Given the description of an element on the screen output the (x, y) to click on. 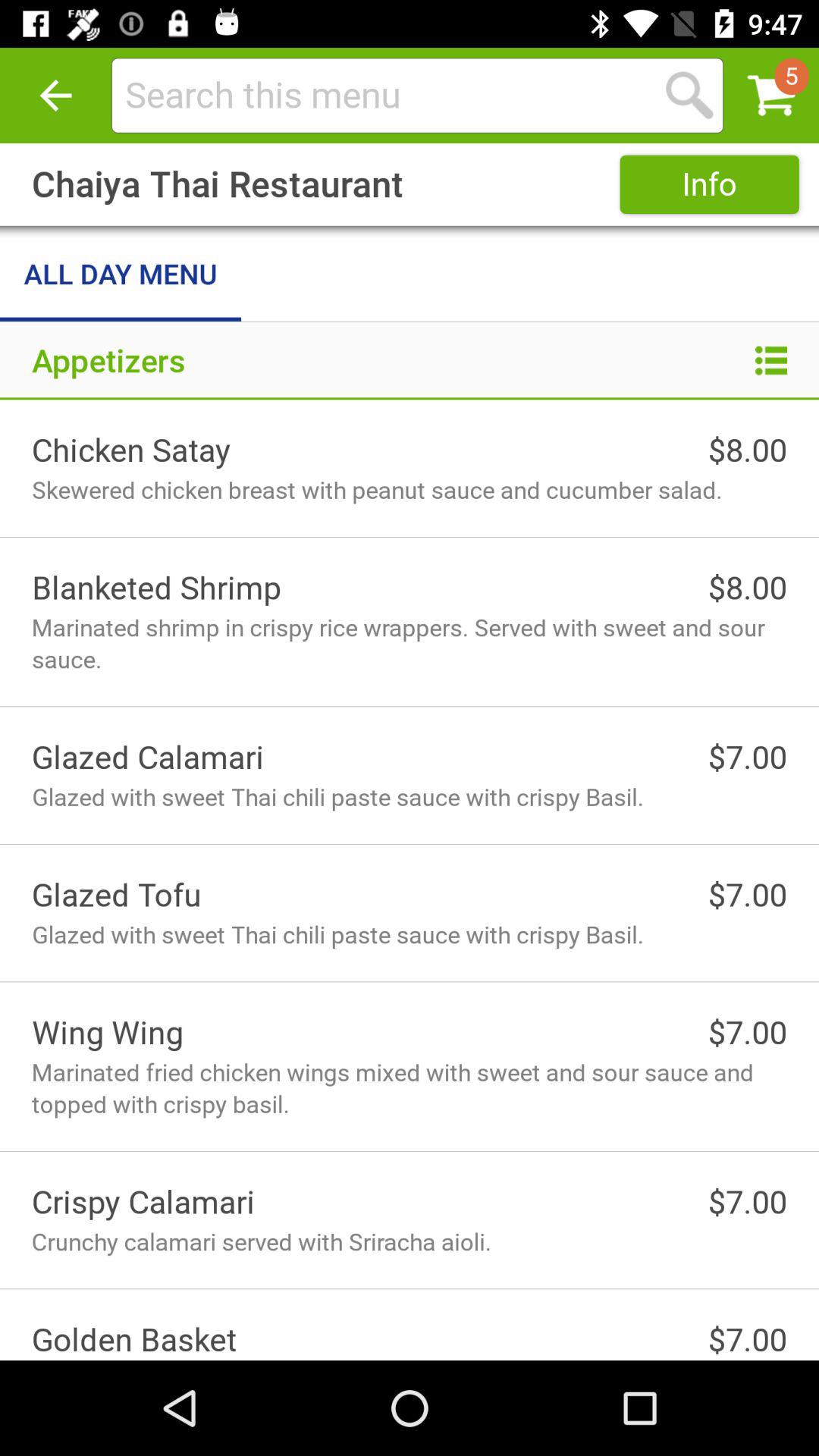
swipe until the info (709, 184)
